Given the description of an element on the screen output the (x, y) to click on. 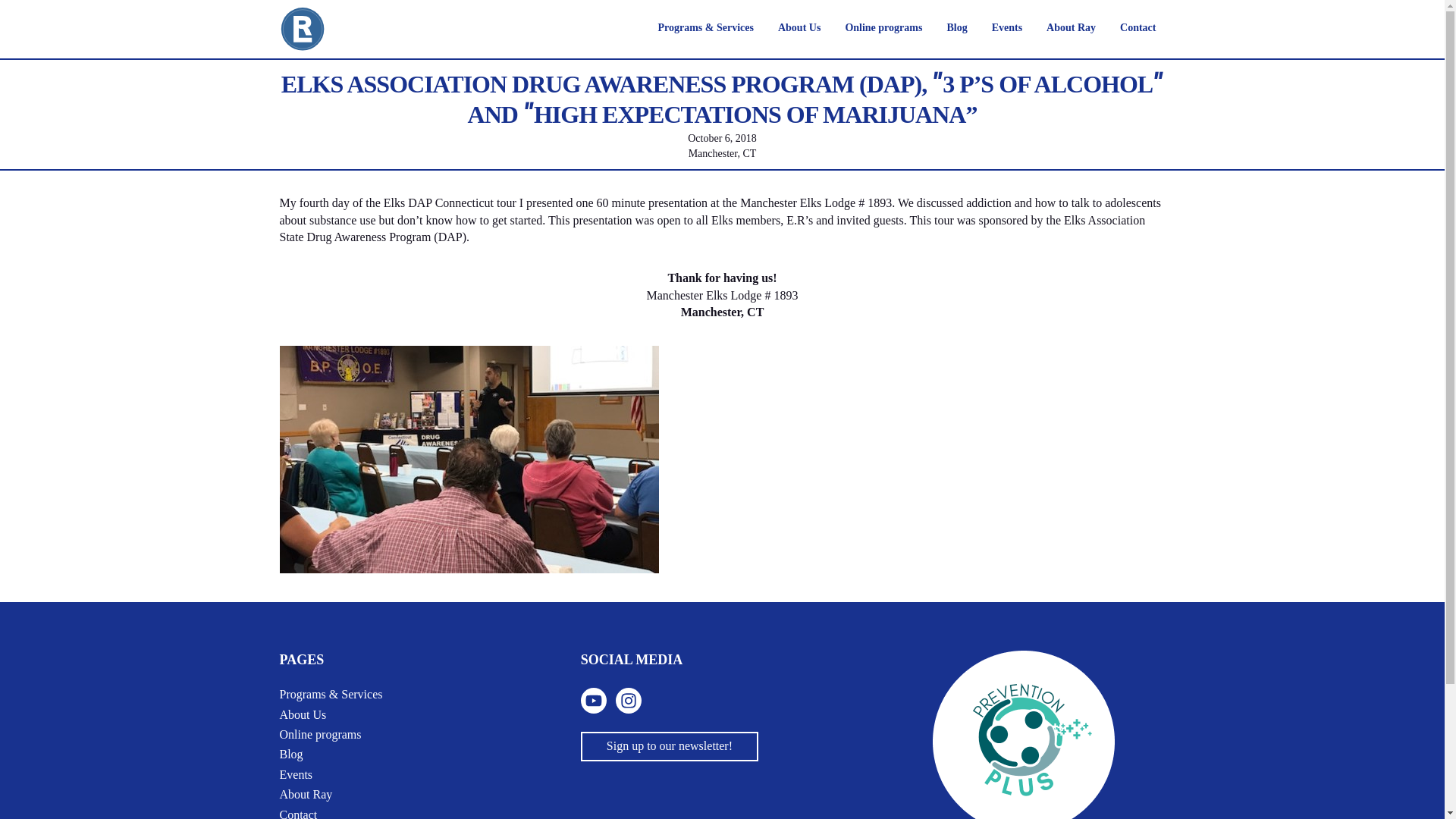
Events (296, 775)
About Ray (305, 794)
About Us (798, 28)
Contact (1137, 28)
Blog (956, 28)
Sign up to our newsletter! (669, 746)
About Ray (1070, 28)
Online programs (320, 735)
Blog (290, 754)
Online programs (883, 28)
